Given the description of an element on the screen output the (x, y) to click on. 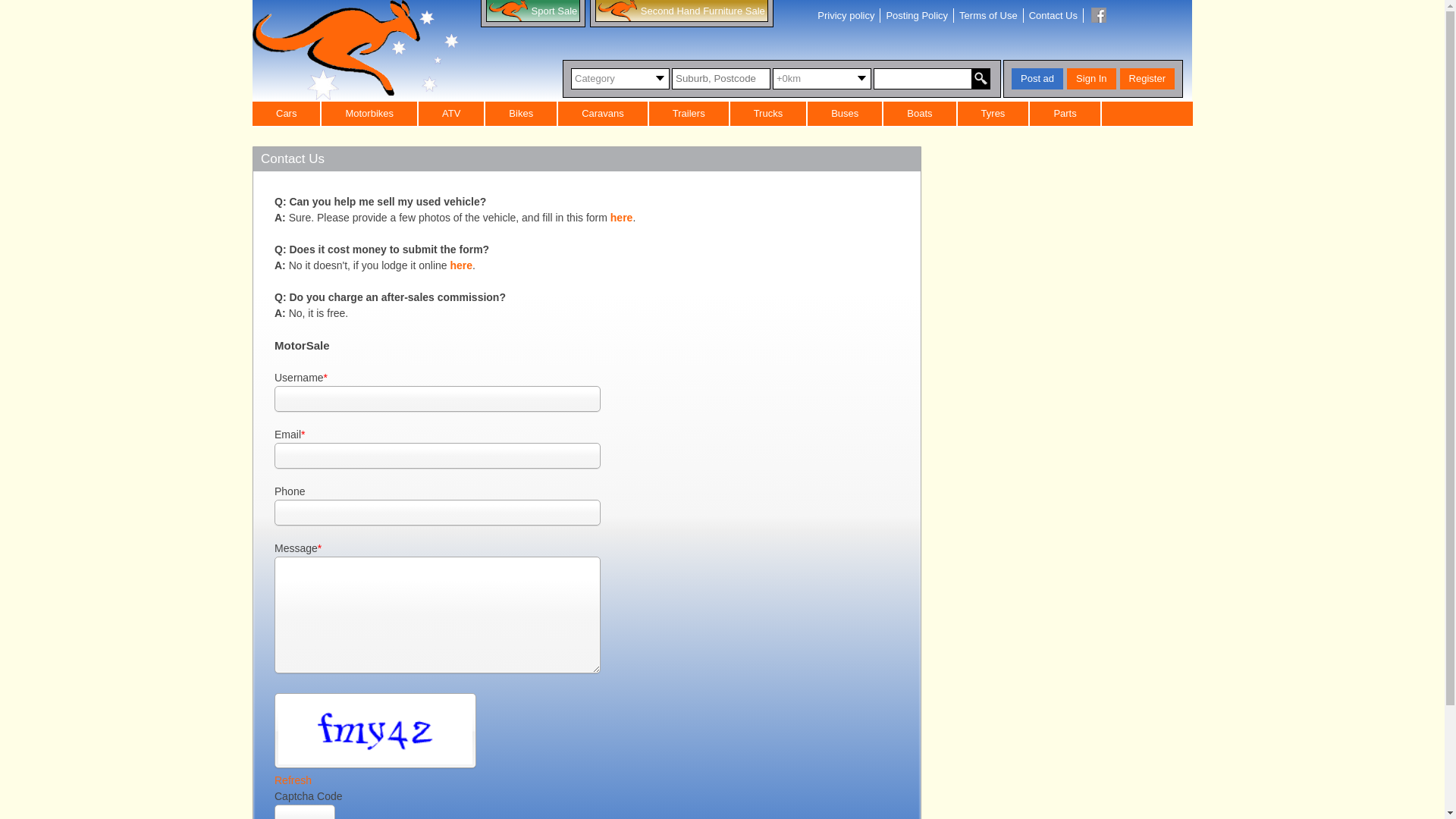
Privicy policy Element type: text (845, 15)
Cars Element type: text (286, 113)
Motorbikes Element type: text (369, 113)
Trucks Element type: text (769, 113)
Parts Element type: text (1065, 113)
search Element type: text (980, 78)
here Element type: text (621, 217)
here Element type: text (460, 265)
Tyres Element type: text (993, 113)
ATV Element type: text (451, 113)
Boats Element type: text (920, 113)
Trailers Element type: text (689, 113)
Terms of Use Element type: text (988, 15)
Contact Us Element type: text (1053, 15)
Home Element type: hover (355, 50)
Buses Element type: text (845, 113)
Bikes Element type: text (521, 113)
Caravans Element type: text (603, 113)
Sign In Element type: text (1090, 78)
Post ad Element type: text (1037, 78)
Register Element type: text (1147, 78)
Posting Policy Element type: text (916, 15)
